Given the description of an element on the screen output the (x, y) to click on. 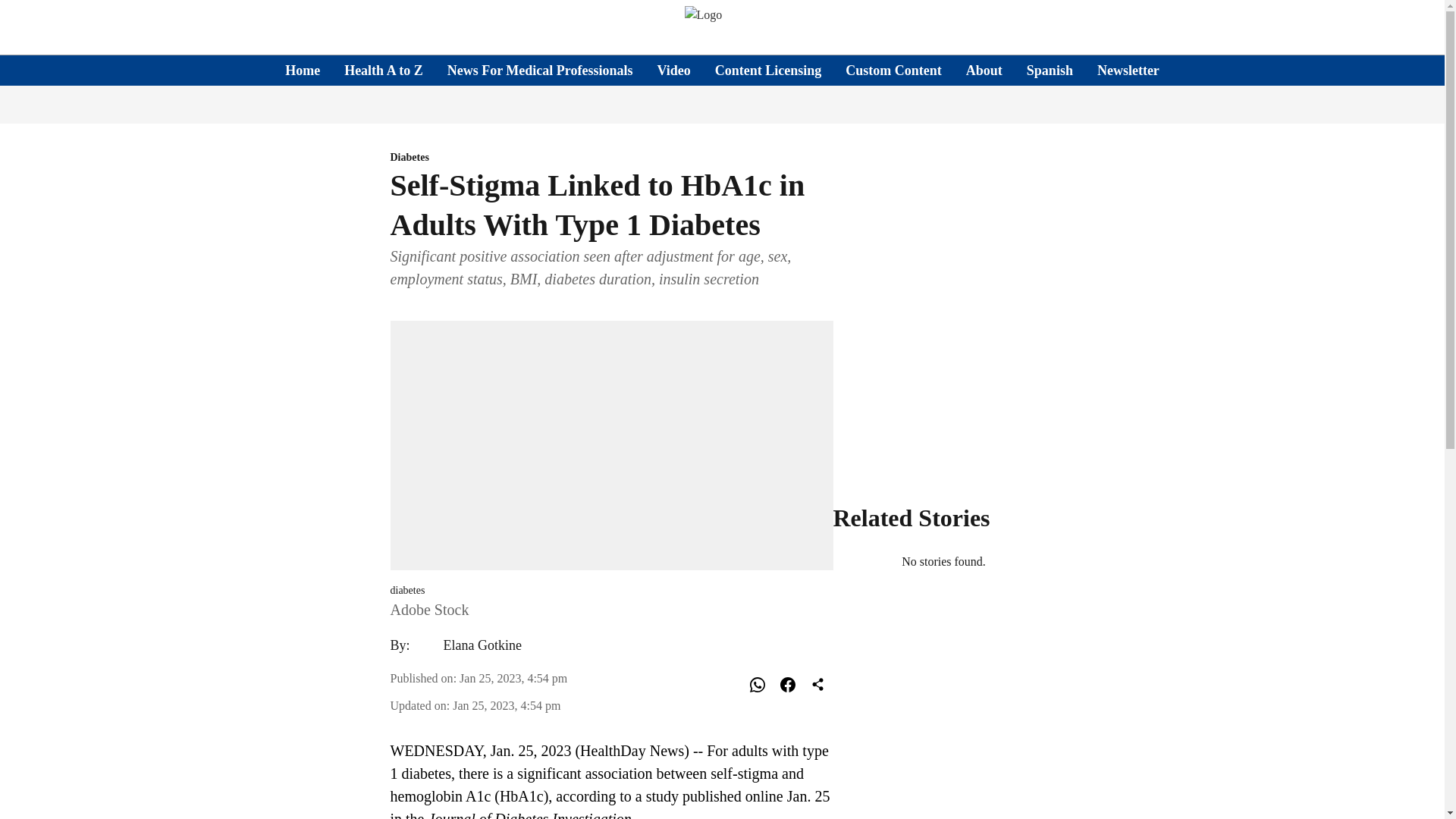
Health A to Z (383, 70)
2023-01-25 16:54 (513, 677)
2023-01-25 16:54 (506, 705)
Home (302, 70)
